Given the description of an element on the screen output the (x, y) to click on. 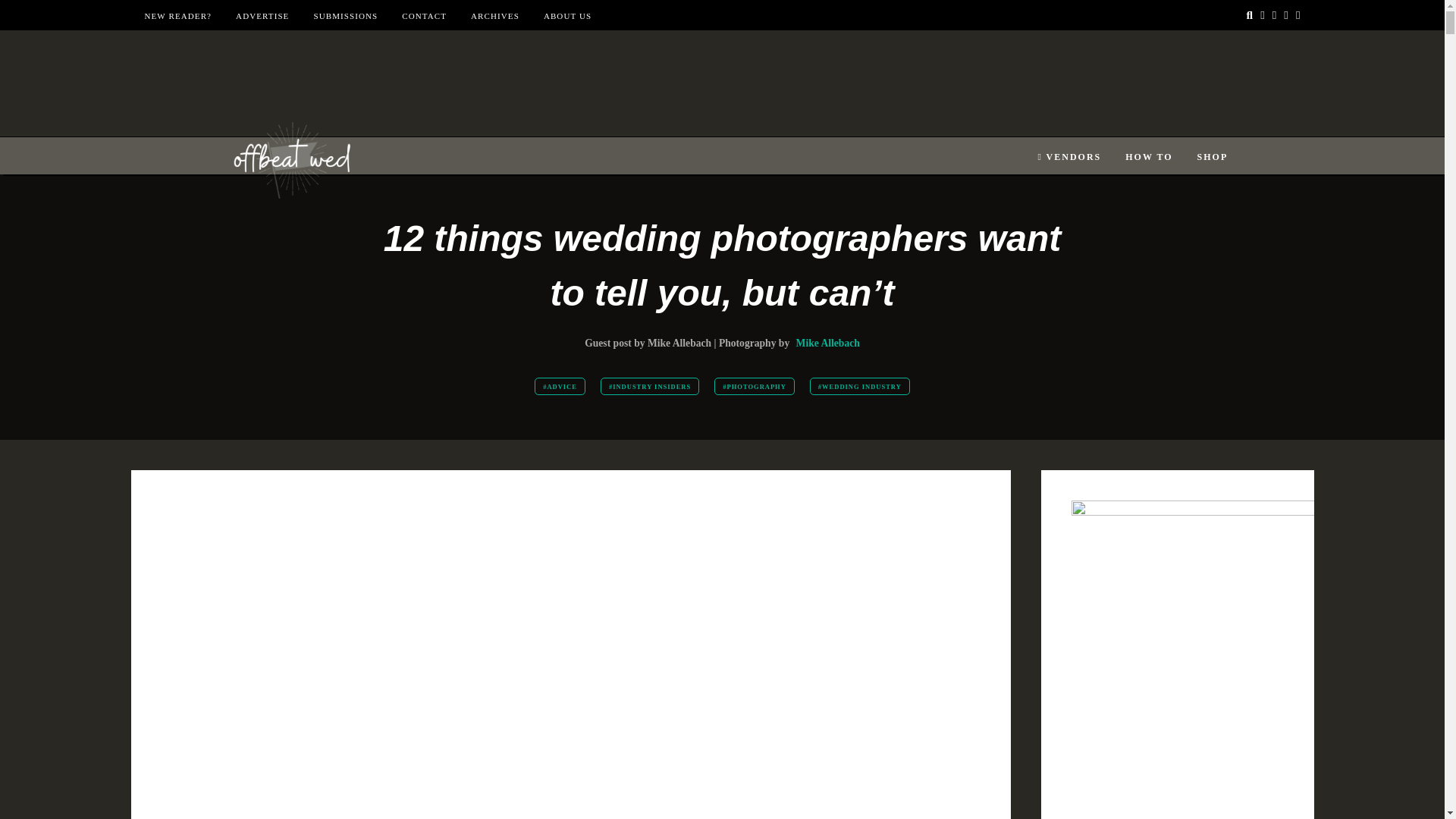
SUBMISSIONS (345, 15)
ABOUT US (567, 15)
CONTACT (423, 15)
ADVERTISE (261, 15)
NEW READER? (177, 15)
HOW TO (1148, 157)
ARCHIVES (494, 15)
Mike Allebach (828, 342)
